Given the description of an element on the screen output the (x, y) to click on. 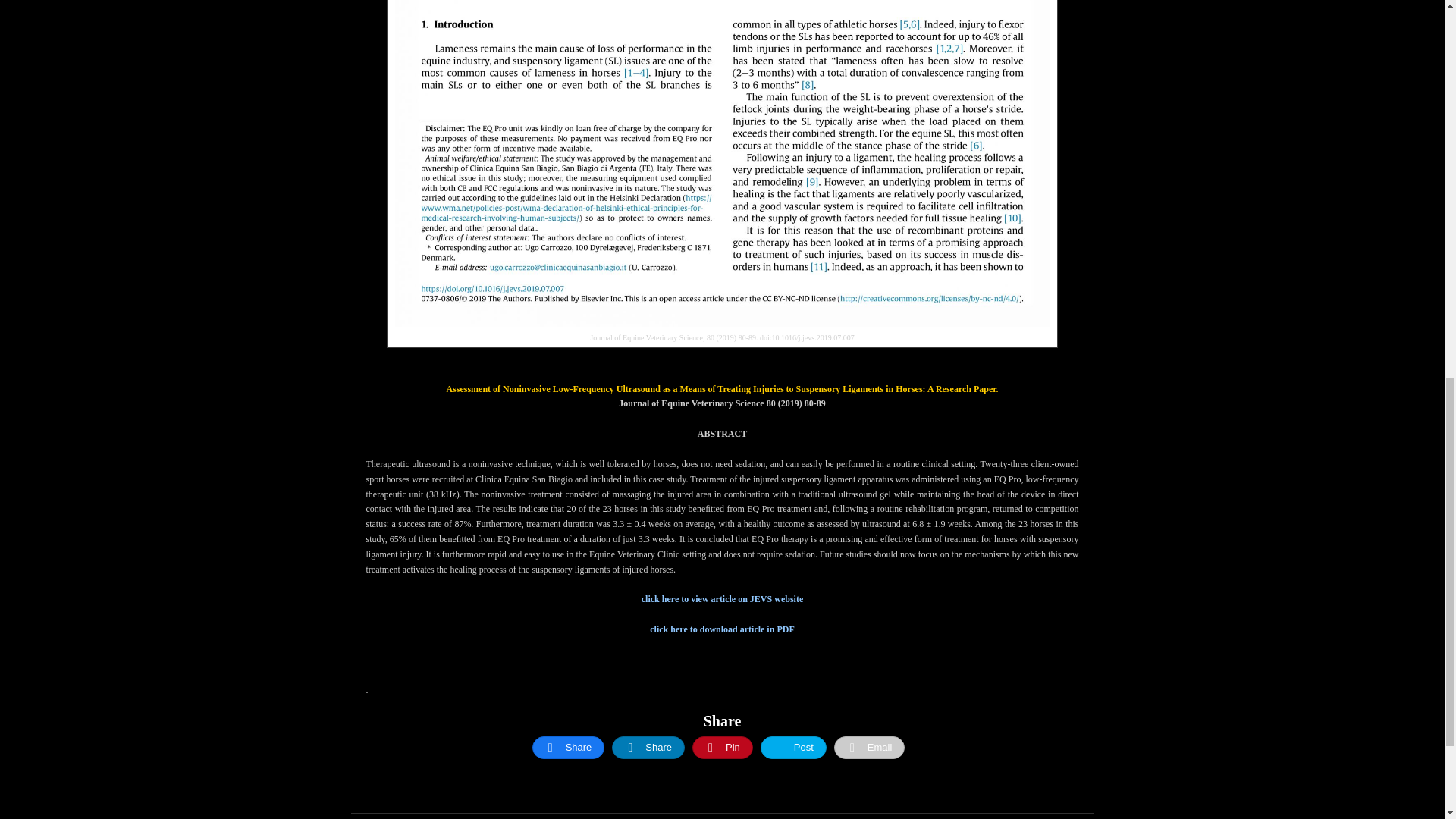
click here to view article on JEVS website (722, 598)
click here to download article in PDF (721, 629)
